Given the description of an element on the screen output the (x, y) to click on. 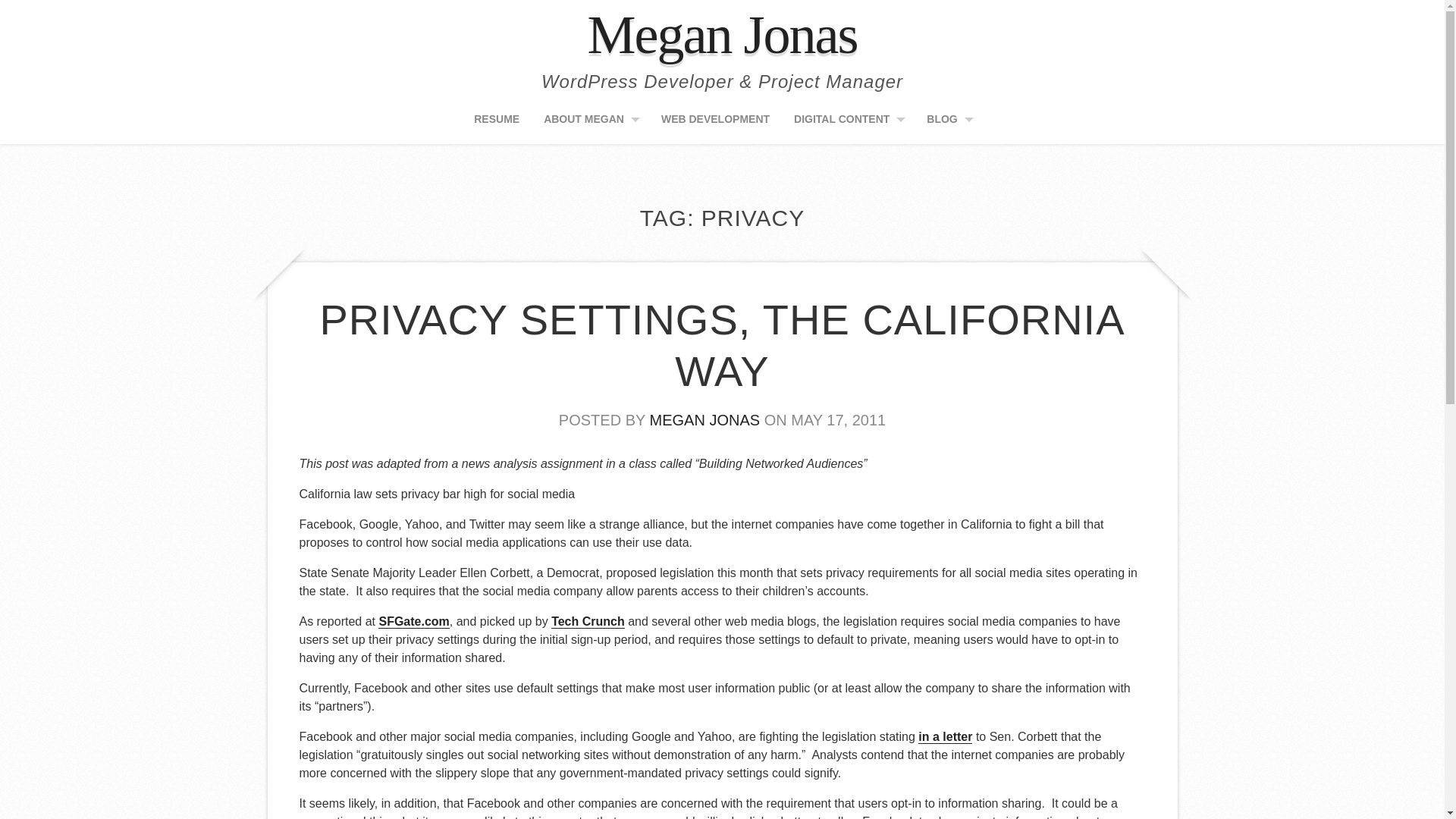
ABOUT MEGAN (591, 123)
in a letter (945, 736)
DIGITAL CONTENT (849, 123)
PRIVACY SETTINGS, THE CALIFORNIA WAY (722, 345)
WEB DEVELOPMENT (715, 123)
Tech Crunch (587, 621)
BLOG (949, 123)
Megan Jonas (722, 35)
RESUME (496, 123)
Megan Jonas (722, 35)
SFGate.com (413, 621)
MEGAN JONAS (704, 420)
